Given the description of an element on the screen output the (x, y) to click on. 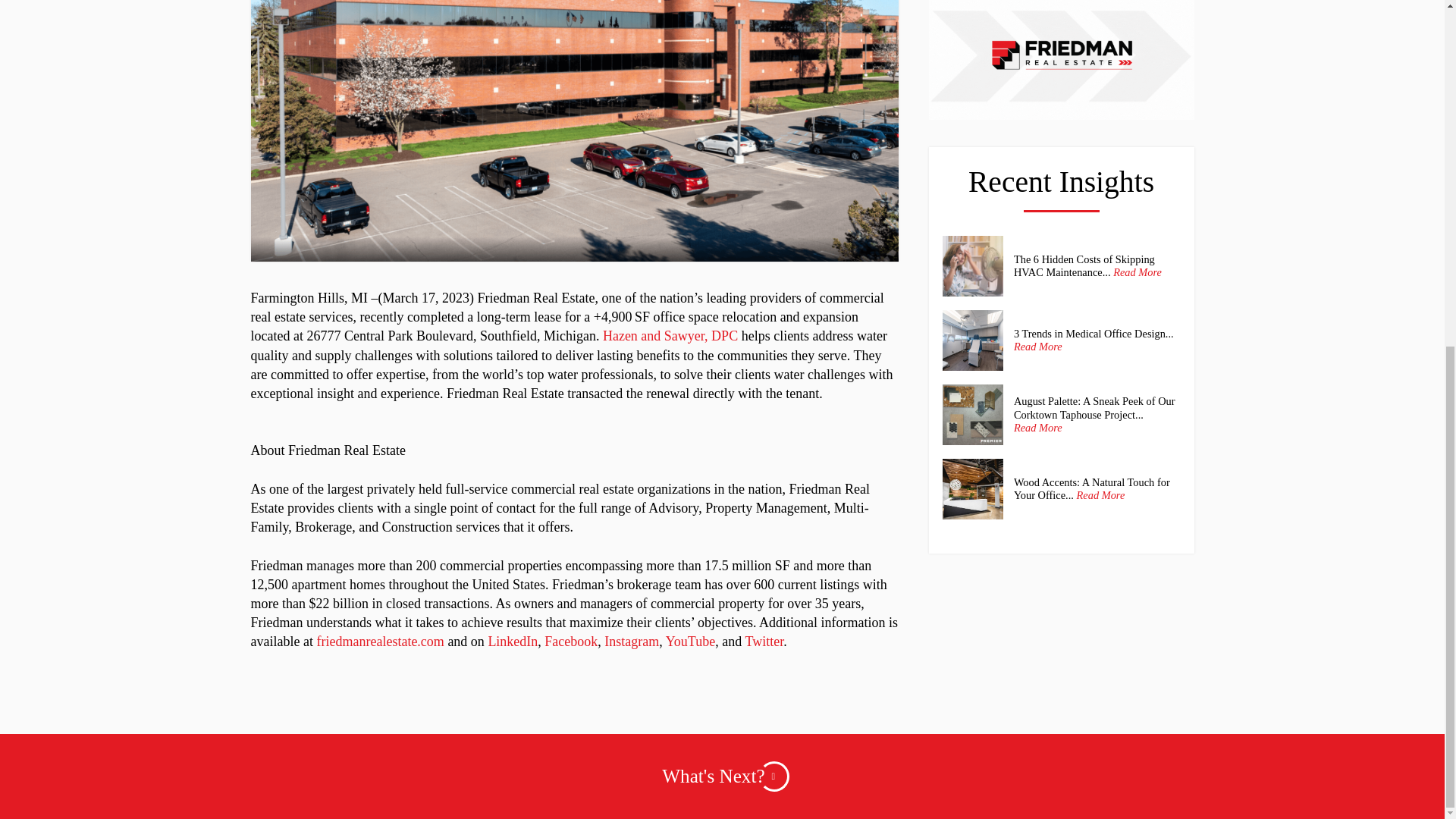
Instagram (631, 641)
Read More (1037, 346)
Hazen and Sawyer, DPC (670, 335)
Read More (1137, 272)
friedmanrealestate.com (379, 641)
Twitter (763, 641)
LinkedIn (512, 641)
YouTube (690, 641)
Facebook (570, 641)
